Given the description of an element on the screen output the (x, y) to click on. 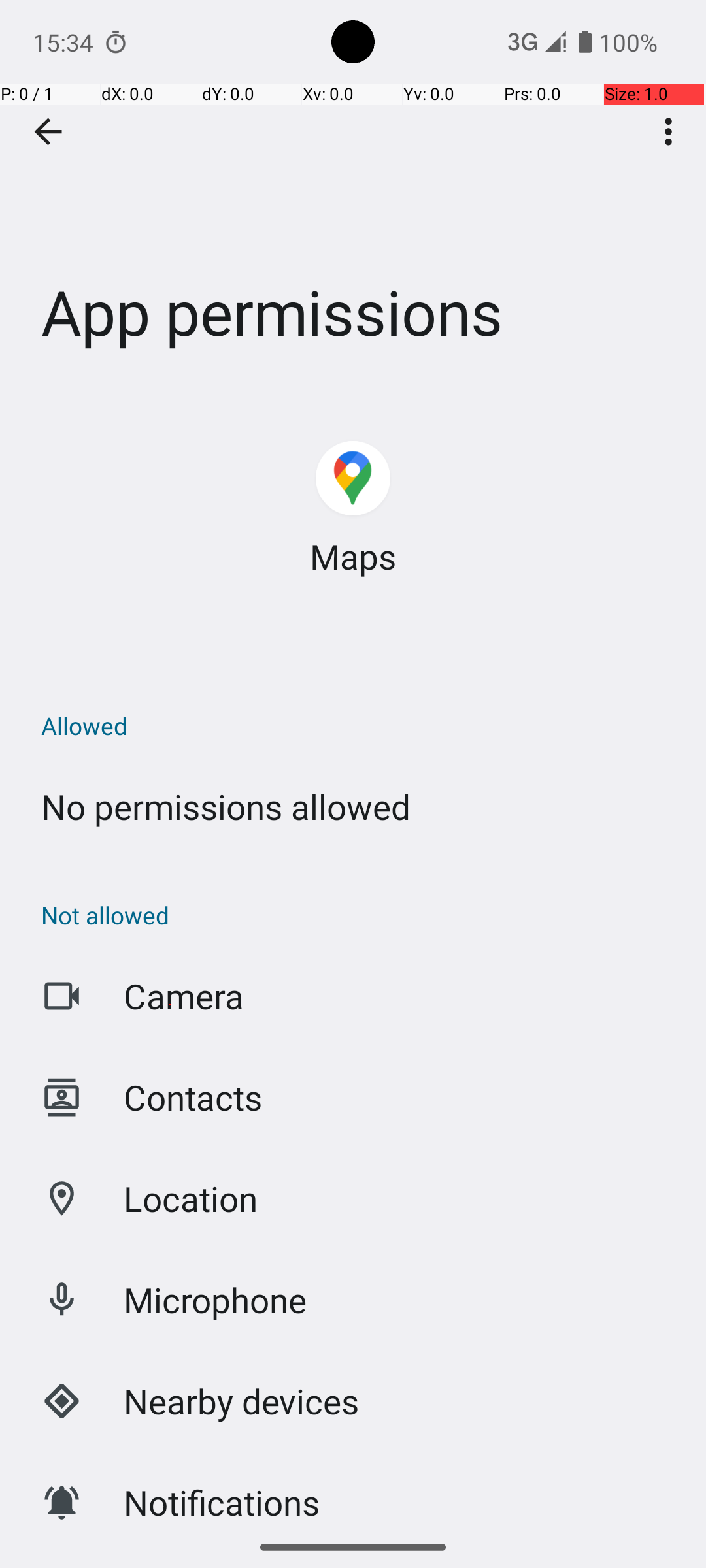
App permissions Element type: android.widget.FrameLayout (353, 195)
Maps Element type: android.widget.TextView (352, 556)
Allowed Element type: android.widget.TextView (359, 725)
No permissions allowed Element type: android.widget.TextView (225, 806)
Not allowed Element type: android.widget.TextView (359, 914)
Camera Element type: android.widget.TextView (183, 995)
Microphone Element type: android.widget.TextView (215, 1299)
Nearby devices Element type: android.widget.TextView (241, 1400)
